Given the description of an element on the screen output the (x, y) to click on. 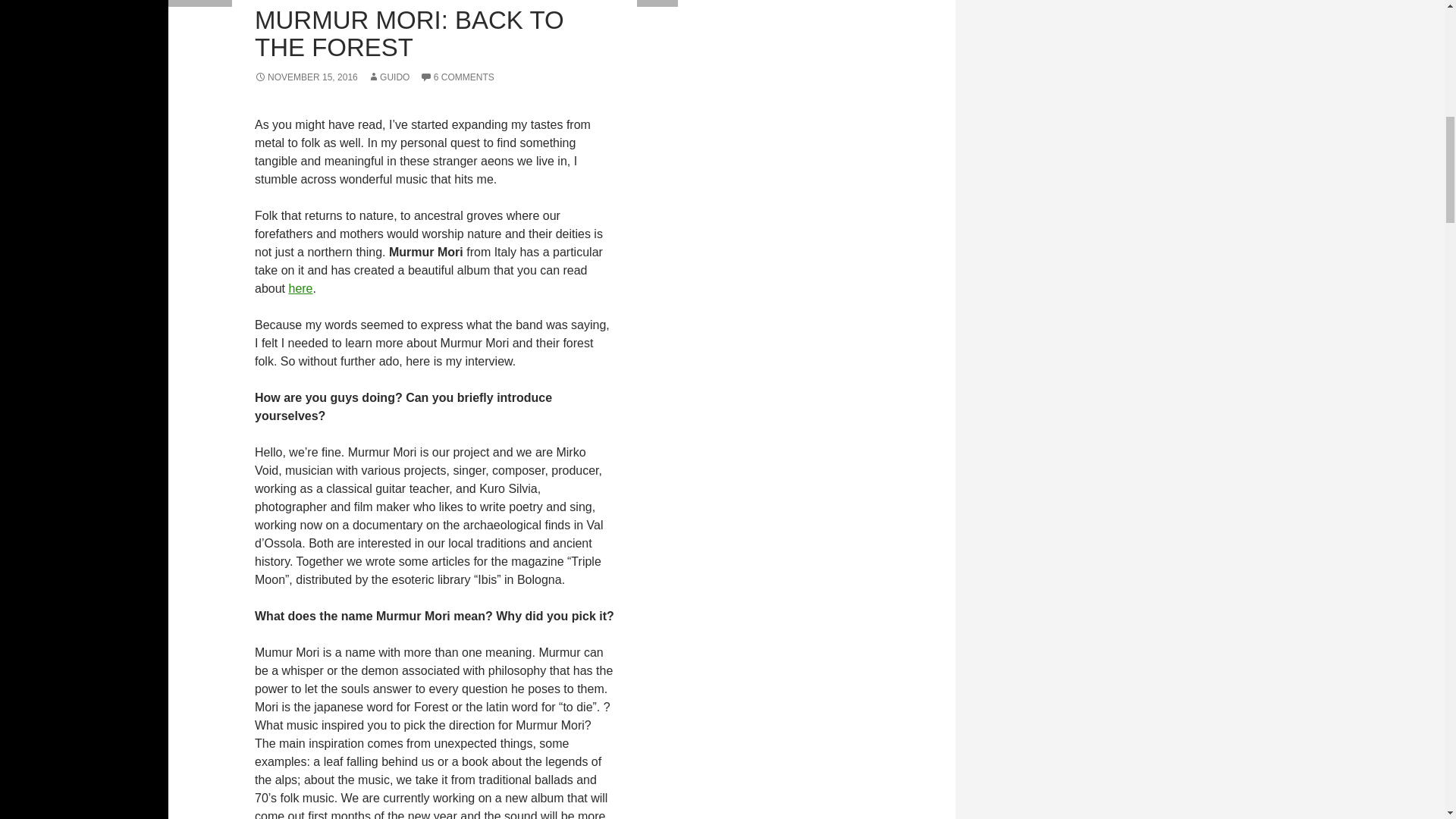
NOVEMBER 15, 2016 (306, 77)
6 COMMENTS (457, 77)
here (300, 287)
GUIDO (388, 77)
